Given the description of an element on the screen output the (x, y) to click on. 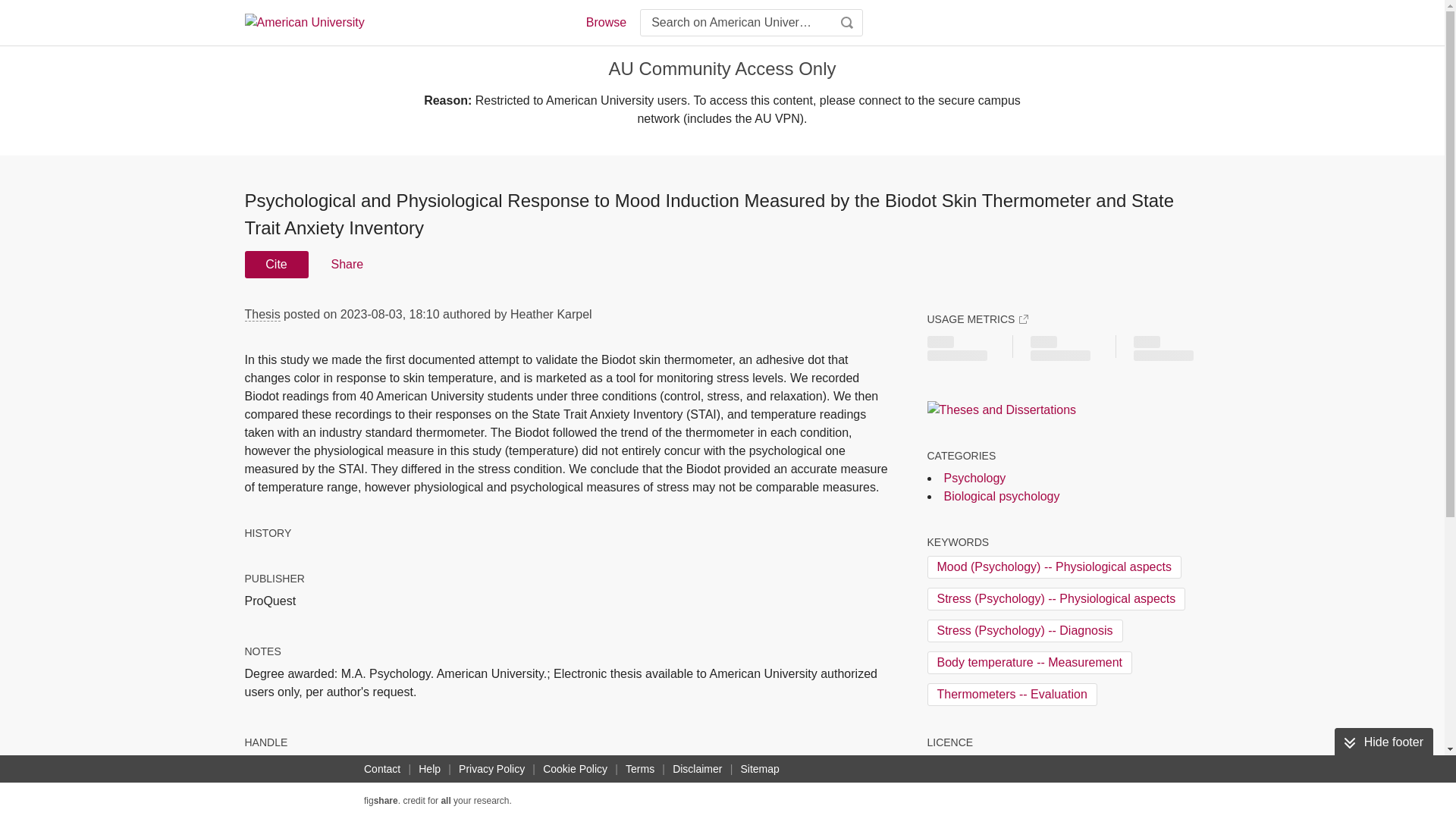
Browse (605, 22)
USAGE METRICS (976, 318)
Biological psychology (1001, 495)
Thermometers -- Evaluation (1011, 694)
Contact (381, 769)
Share (346, 264)
Terms (640, 769)
Body temperature -- Measurement (1029, 662)
Disclaimer (697, 769)
Cookie Policy (574, 769)
